Given the description of an element on the screen output the (x, y) to click on. 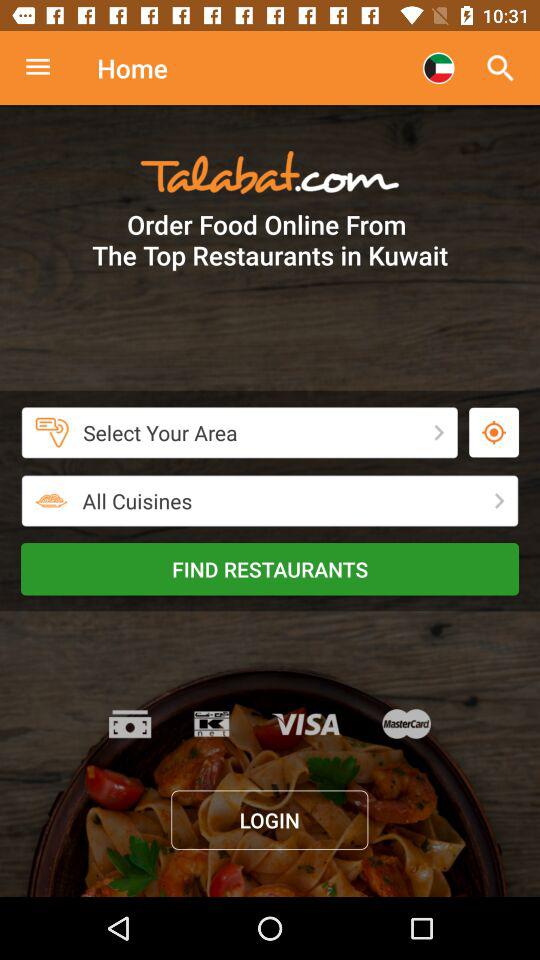
temperature (494, 432)
